Given the description of an element on the screen output the (x, y) to click on. 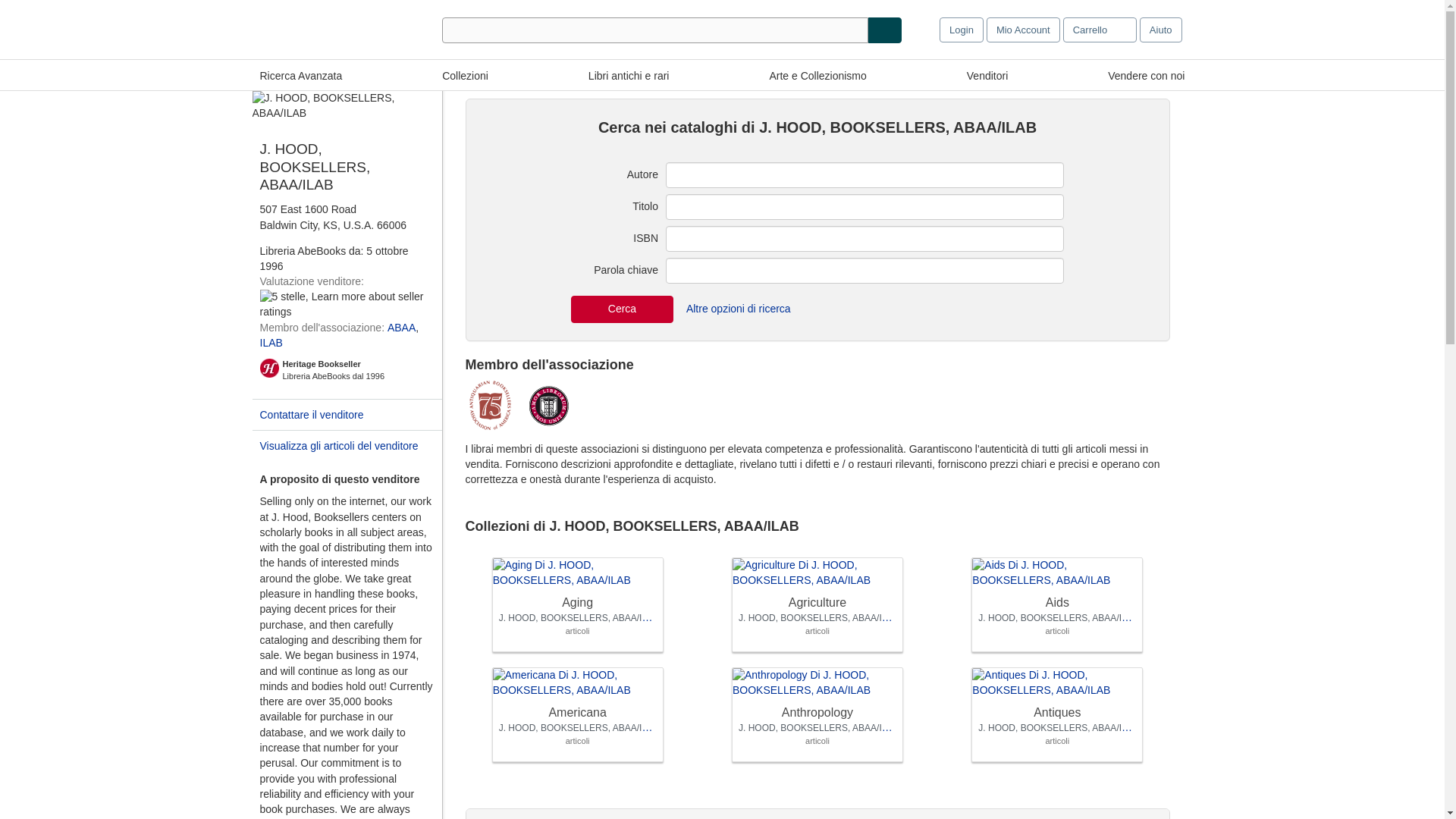
Vendere con noi (1146, 73)
Collezioni (464, 73)
Trova libri rari e da collezione (628, 73)
Cerca milioni di articoli in vendita (300, 73)
Ricerca Avanzata (300, 73)
Scopri libri, articoli d'arte e da collezione (464, 73)
ILAB (270, 342)
Aiuto (1161, 29)
Mio Account (1023, 29)
Login (961, 29)
Altre opzioni di ricerca (738, 309)
Arte e Collezionismo (817, 73)
Libri antichi e rari (628, 73)
Al contenuto principale (57, 11)
Diventa un venditore professionista su AbeBooks (1146, 73)
